Given the description of an element on the screen output the (x, y) to click on. 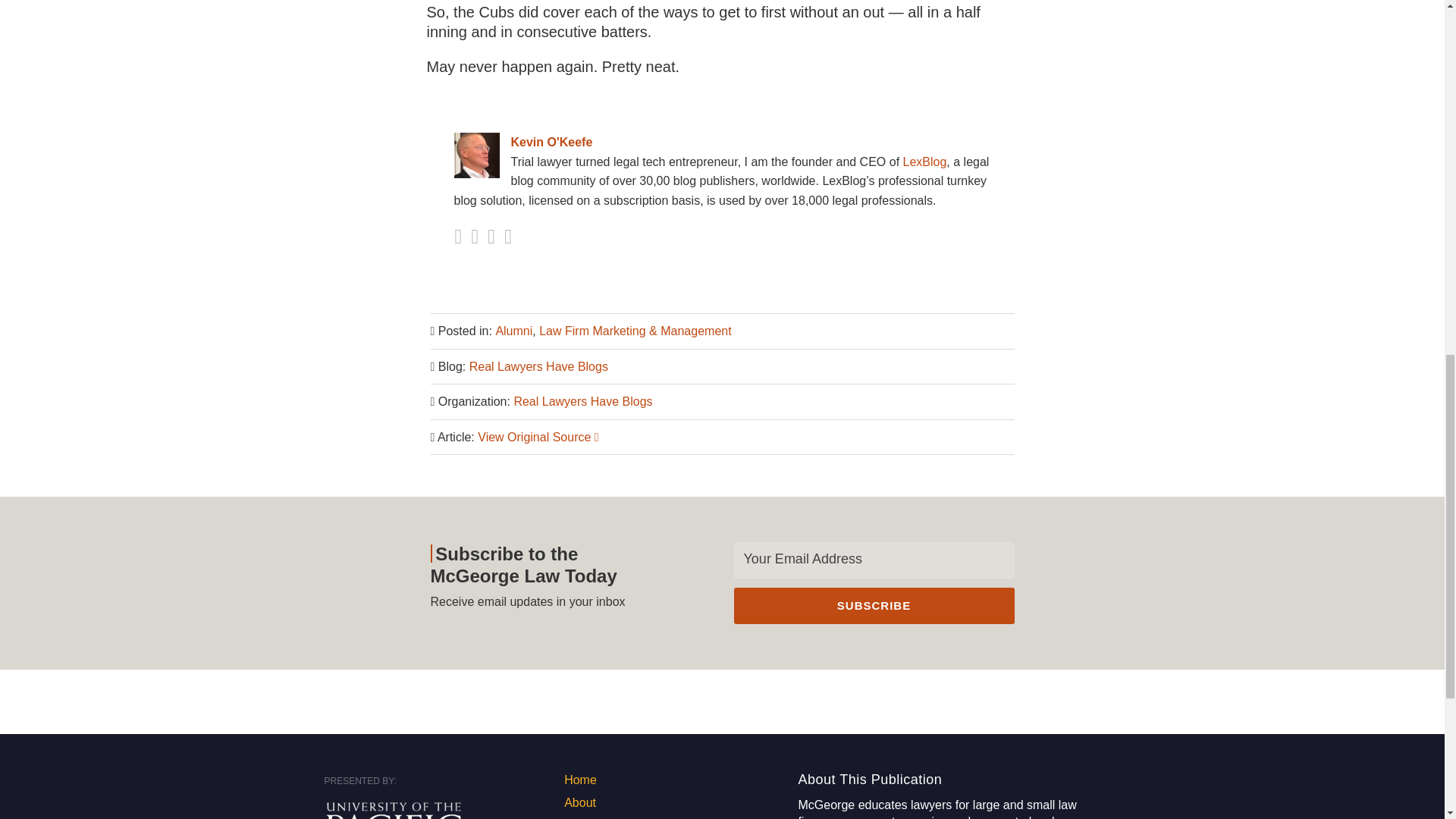
About (579, 802)
SUBSCRIBE (873, 606)
SUBSCRIBE (873, 606)
Real Lawyers Have Blogs (582, 400)
View Original Source (537, 436)
Kevin O'Keefe (721, 142)
Home (580, 779)
LexBlog (924, 161)
Real Lawyers Have Blogs (538, 366)
Alumni (513, 330)
